Given the description of an element on the screen output the (x, y) to click on. 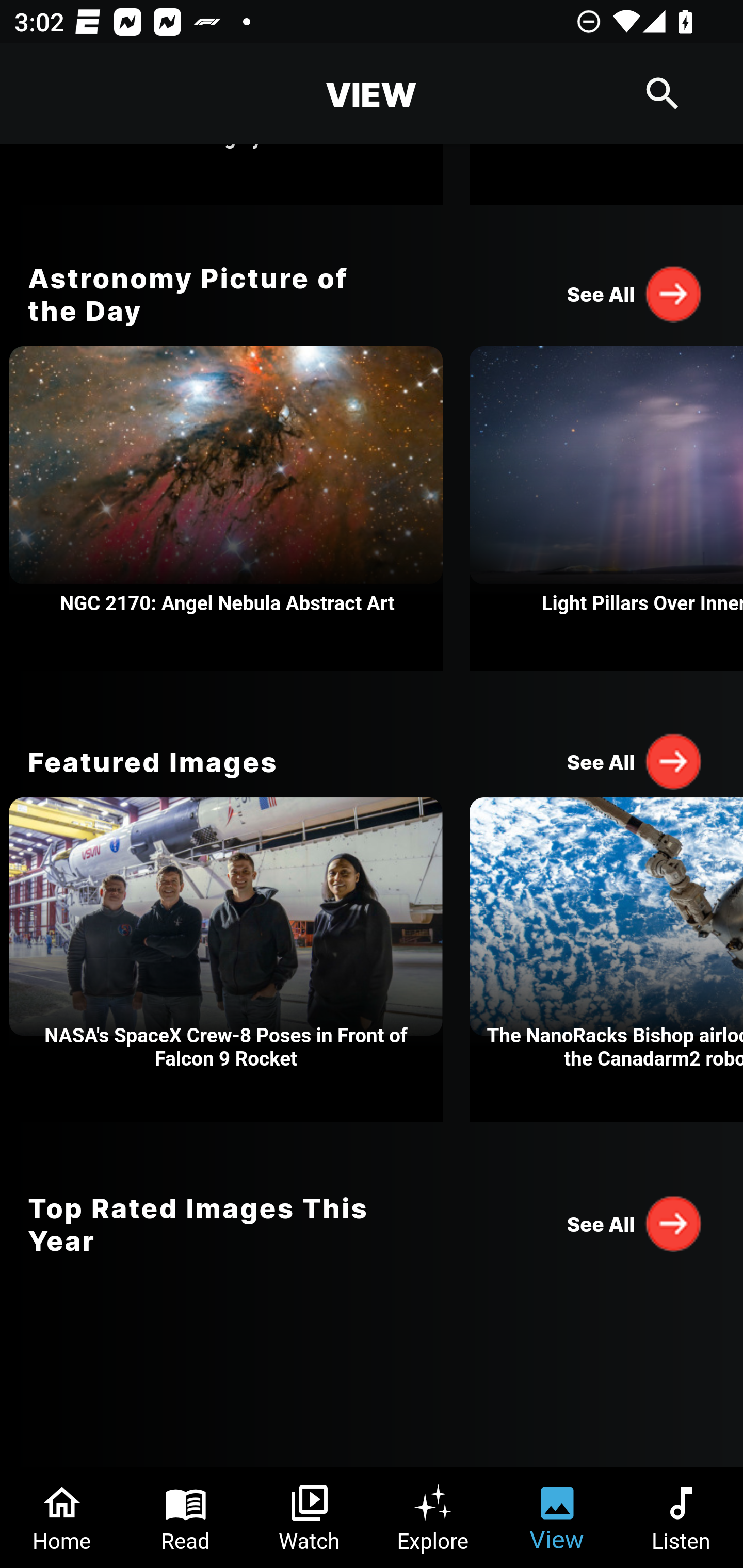
See All (634, 293)
NGC 2170: Angel Nebula Abstract Art (225, 508)
Light Pillars Over Inner Mongolia (606, 508)
See All (634, 760)
See All (634, 1222)
Home
Tab 1 of 6 (62, 1517)
Read
Tab 2 of 6 (185, 1517)
Watch
Tab 3 of 6 (309, 1517)
Explore
Tab 4 of 6 (433, 1517)
View
Tab 5 of 6 (556, 1517)
Listen
Tab 6 of 6 (680, 1517)
